Given the description of an element on the screen output the (x, y) to click on. 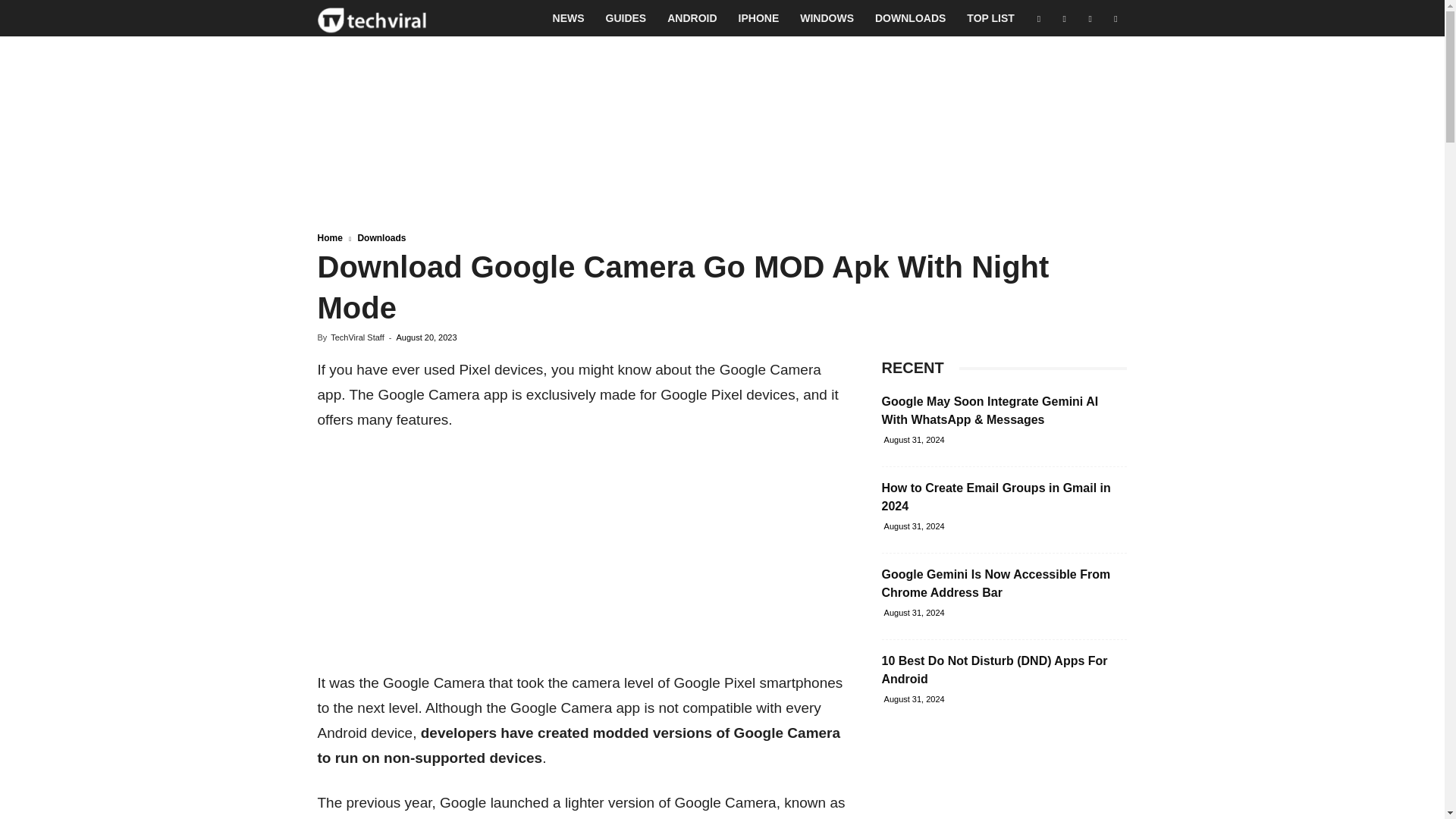
Home (329, 237)
TechViral (371, 18)
NEWS (568, 18)
WINDOWS (826, 18)
Tech Viral (371, 18)
GUIDES (626, 18)
TOP LIST (990, 18)
IPHONE (759, 18)
DOWNLOADS (910, 18)
ANDROID (691, 18)
